Given the description of an element on the screen output the (x, y) to click on. 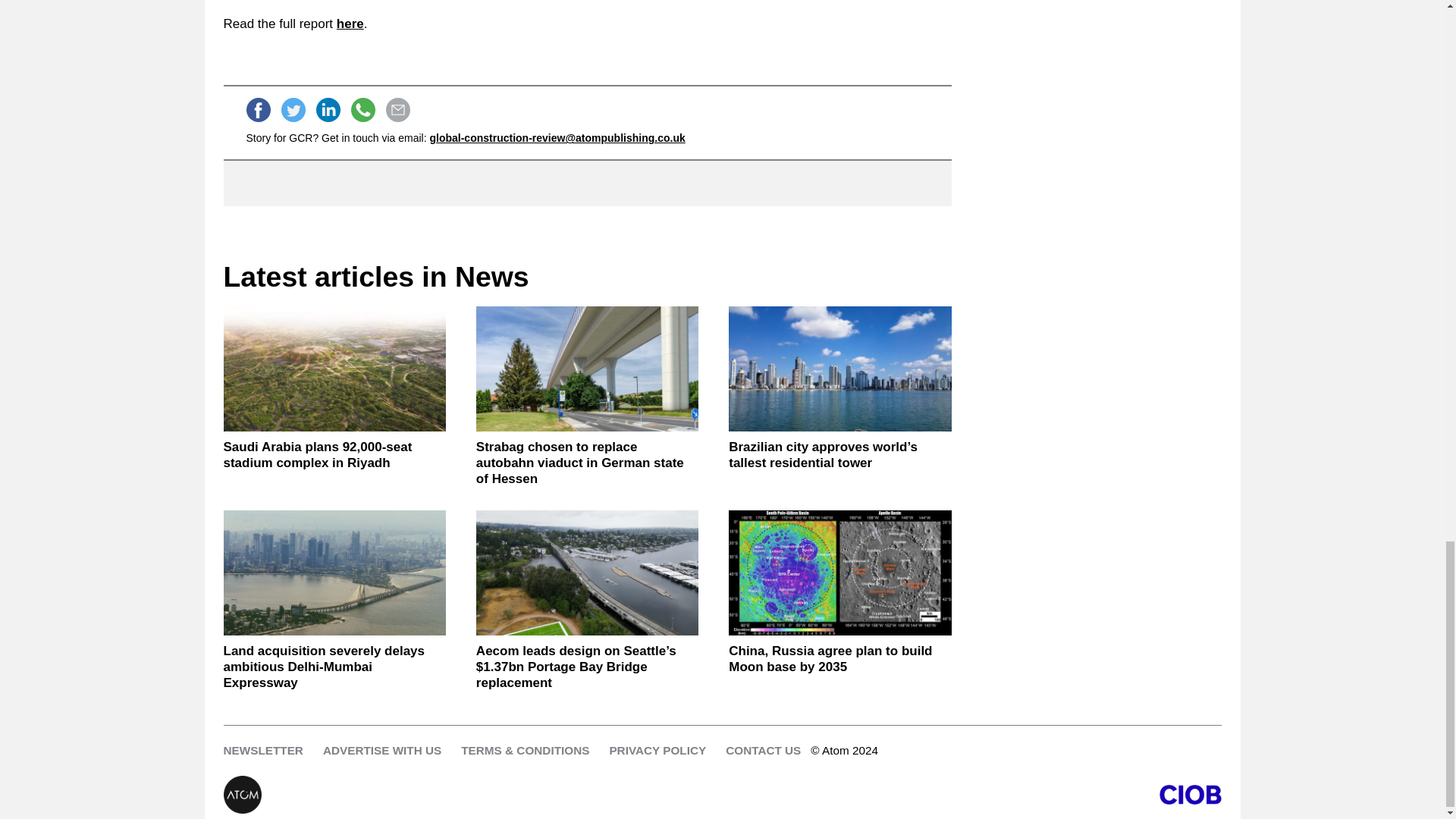
Share on LinkedIn (327, 109)
Saudi Arabia plans 92,000-seat stadium complex in Riyadh (333, 454)
Share on WhatsApp (362, 109)
Share on Facebook (257, 109)
Tweet (292, 109)
Saudi Arabia plans 92,000-seat stadium complex in Riyadh (333, 368)
Send email (397, 109)
